Given the description of an element on the screen output the (x, y) to click on. 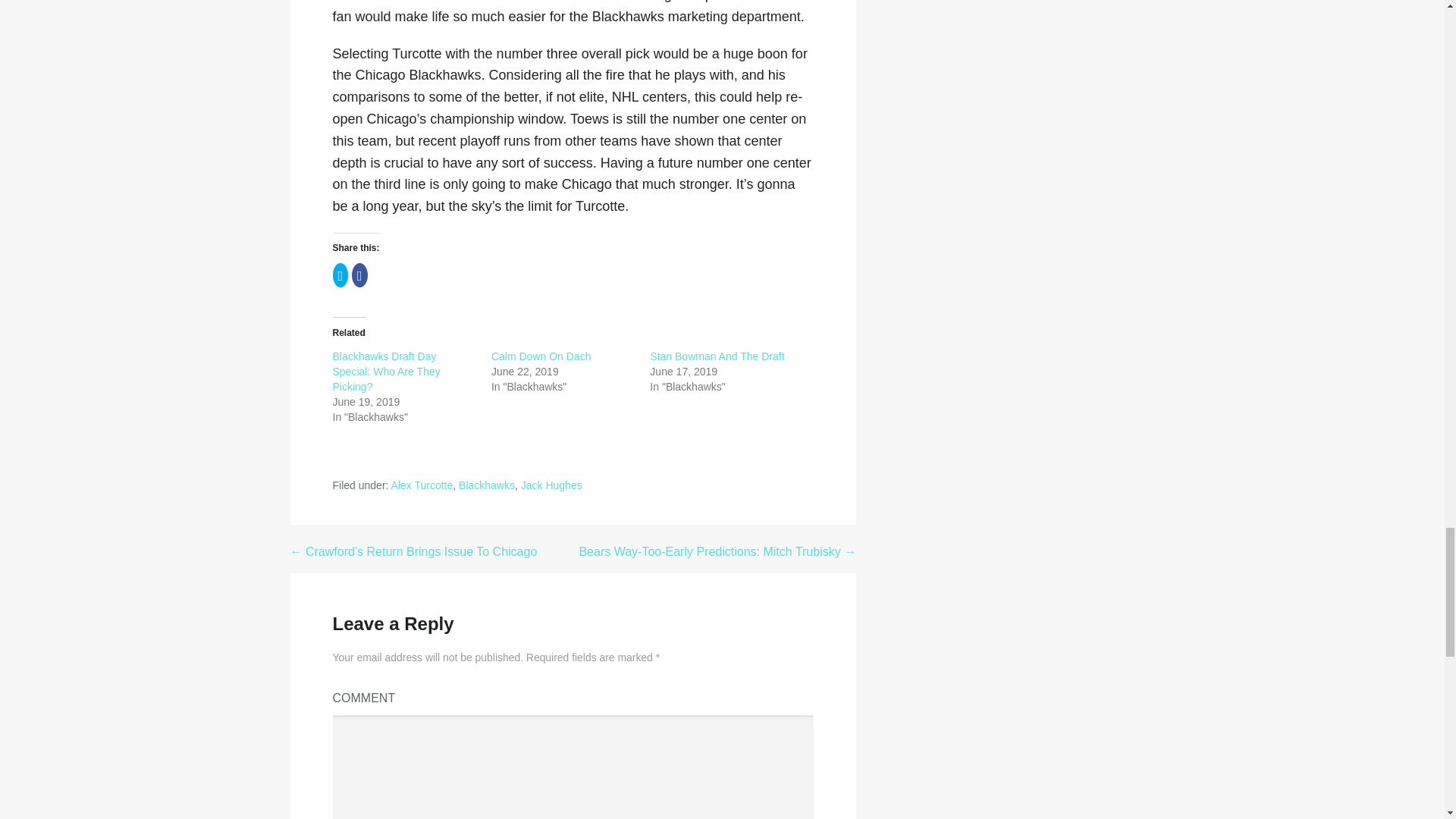
Click to share on Twitter (339, 274)
Jack Hughes (551, 485)
Alex Turcotte (421, 485)
Blackhawks Draft Day Special: Who Are They Picking? (385, 371)
Click to share on Facebook (360, 274)
Calm Down On Dach (541, 356)
Stan Bowman And The Draft (716, 356)
Blackhawks (486, 485)
